Given the description of an element on the screen output the (x, y) to click on. 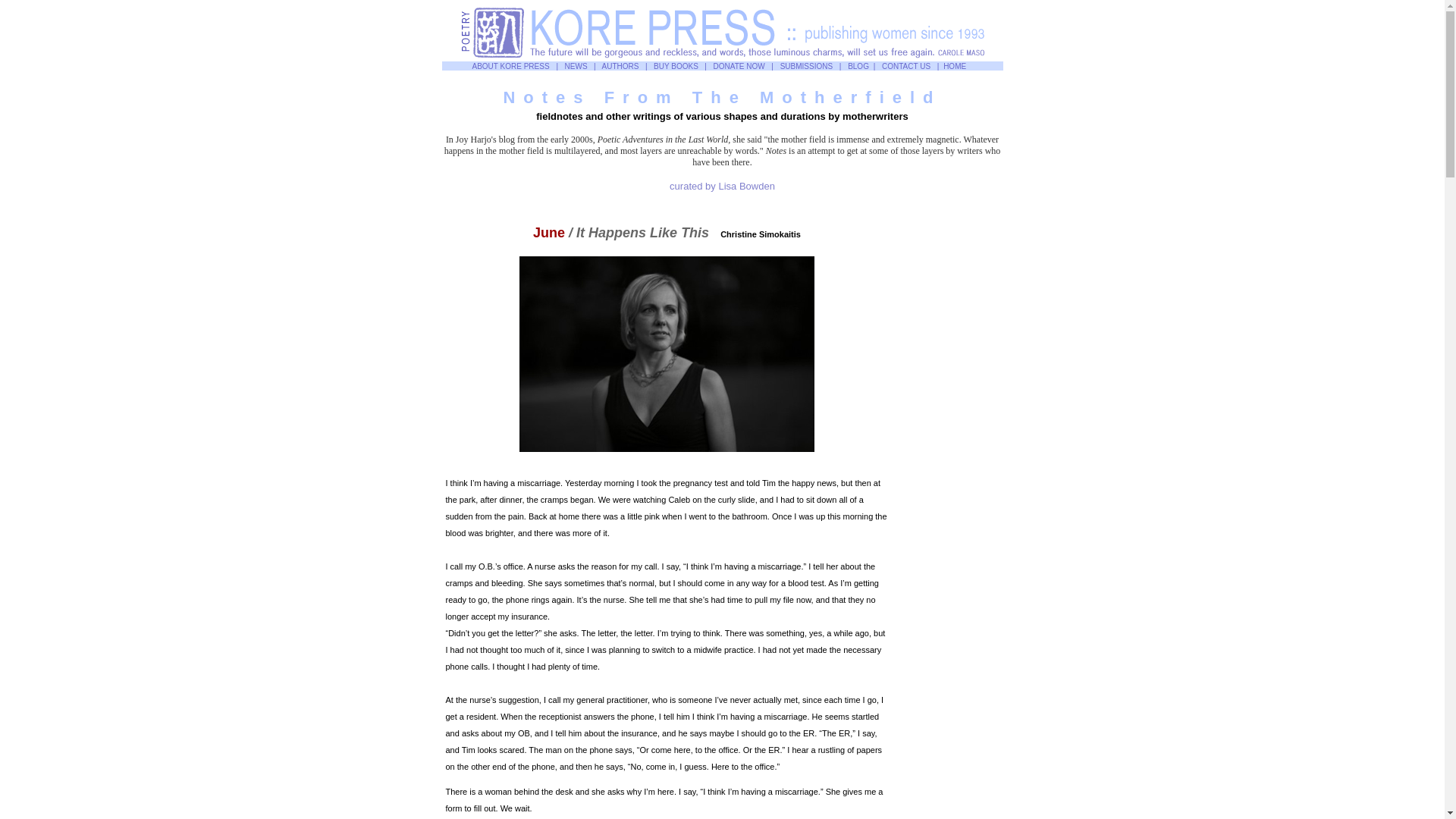
  AUTHORS   (620, 66)
  DONATE NOW   (738, 66)
curated by Lisa Bowden (721, 185)
 HOME  (954, 66)
  BUY BOOKS   (676, 66)
 CONTACT US  (906, 66)
 BLOG  (857, 66)
SUBMISSIONS (806, 66)
ABOUT KORE PRESS (509, 66)
  NEWS   (575, 66)
